Given the description of an element on the screen output the (x, y) to click on. 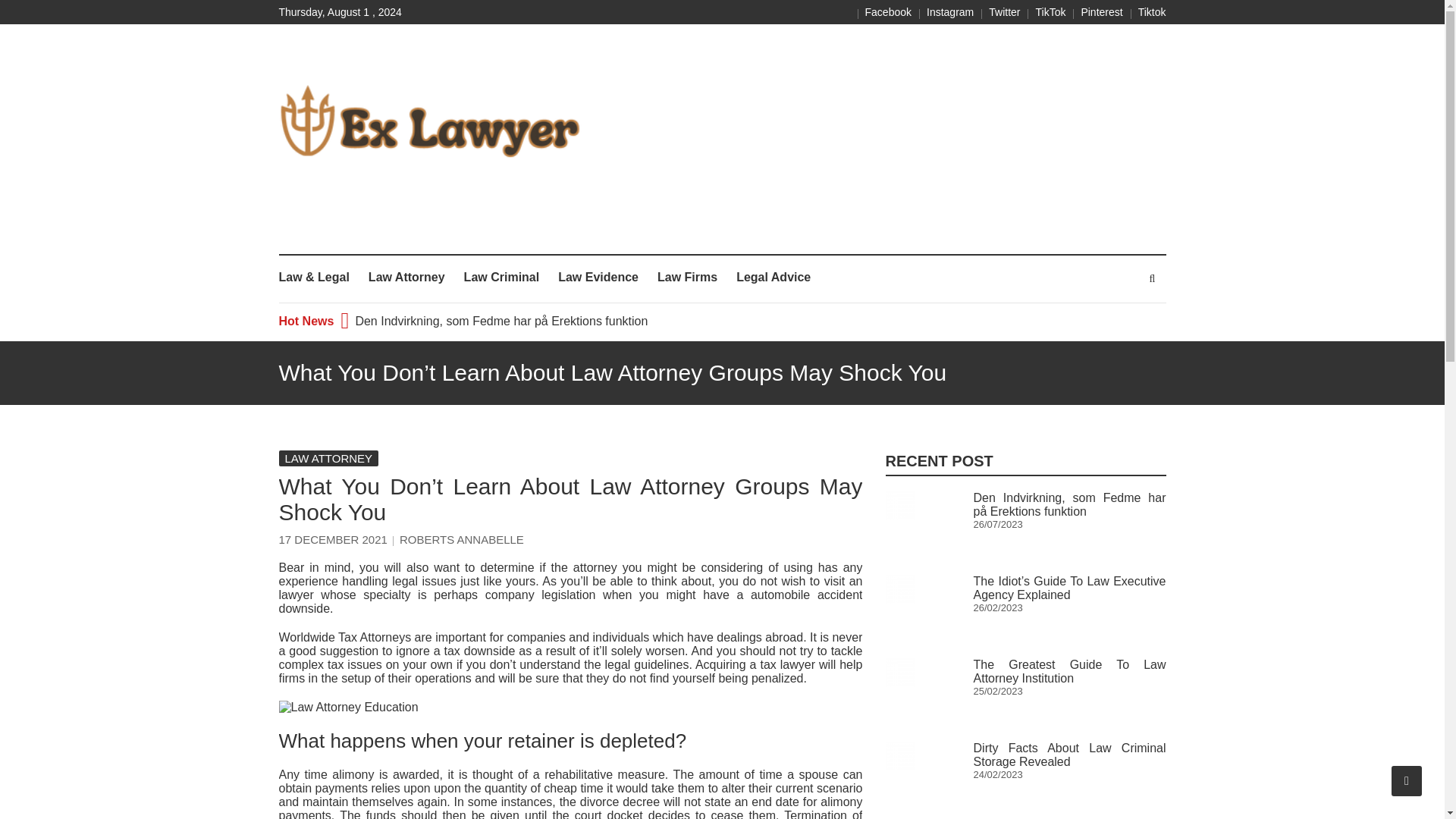
Law Evidence (598, 278)
Law Criminal (502, 278)
17 December 2021 (333, 539)
Ex Lawyer (323, 230)
Facebook (887, 11)
Law Attorney (406, 278)
TikTok (1050, 11)
The Greatest Guide To Law Attorney Institution (1070, 671)
What You Don't Learn About Law Attorney Groups May Shock You (571, 707)
The Greatest Guide To Law Attorney Institution (899, 672)
17 DECEMBER 2021 (333, 539)
LAW ATTORNEY (328, 458)
Ex Lawyer (323, 230)
Tiktok (1152, 11)
Law Firms (687, 278)
